Given the description of an element on the screen output the (x, y) to click on. 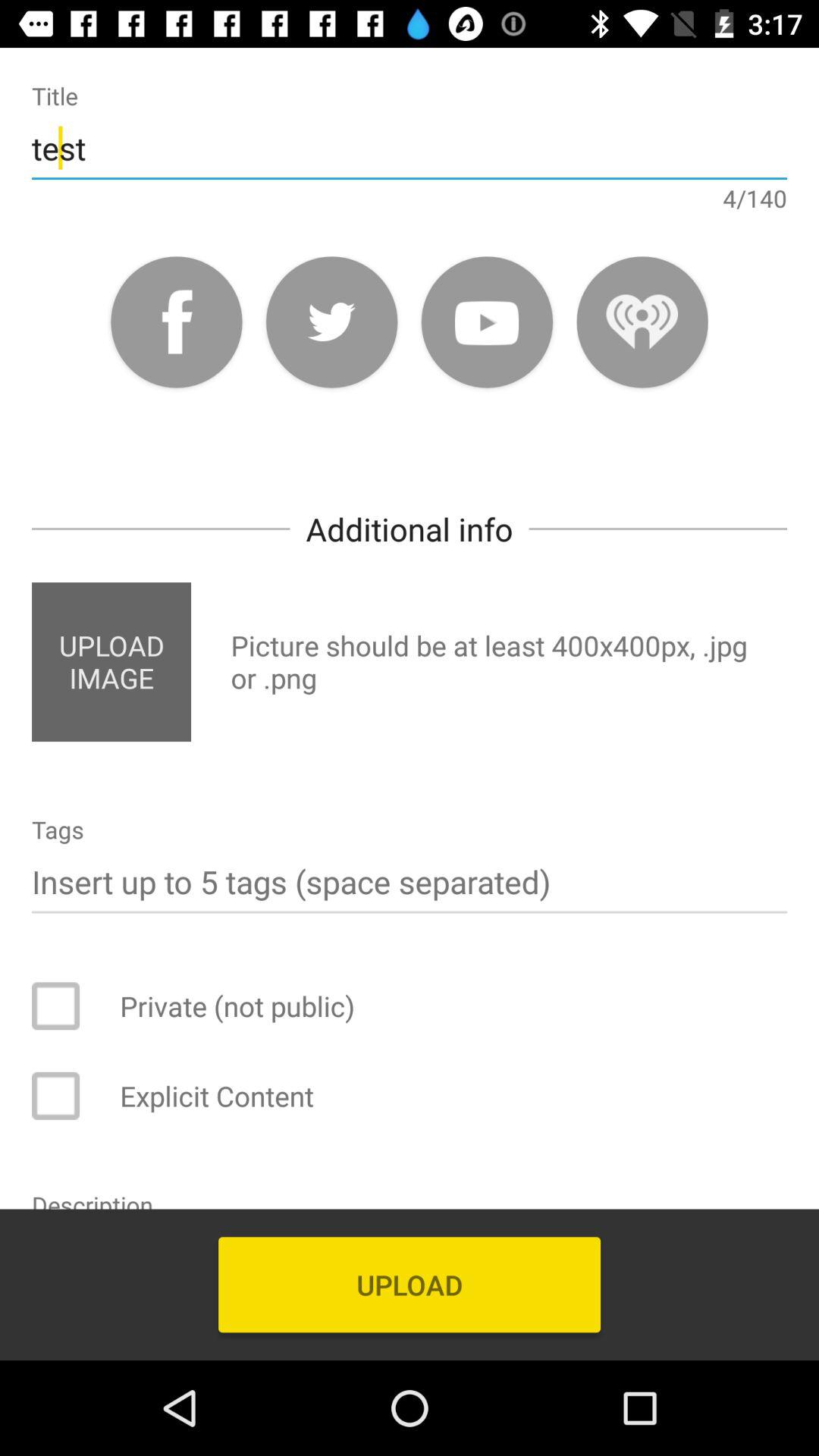
choose item on the left (111, 661)
